Given the description of an element on the screen output the (x, y) to click on. 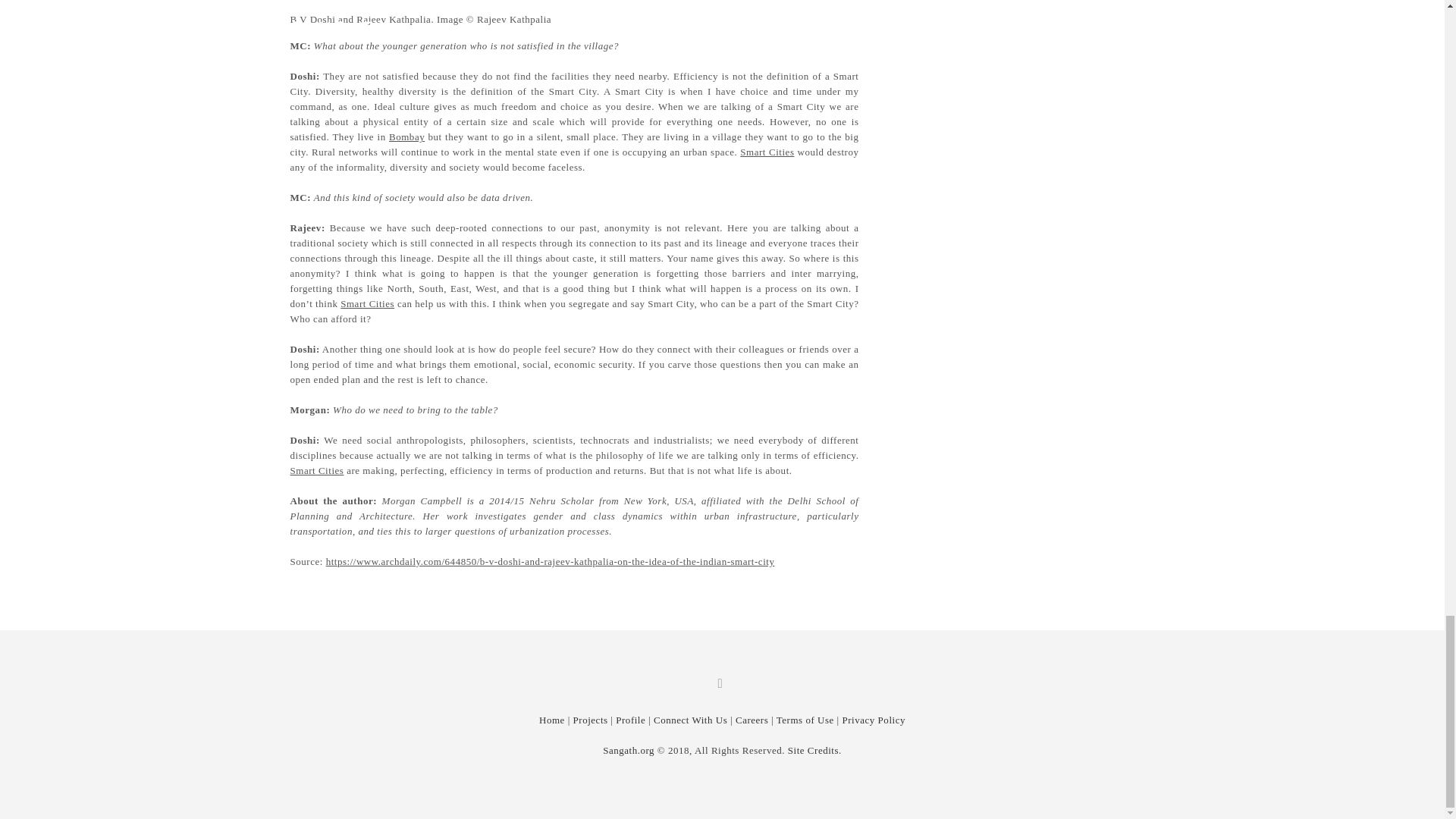
Smart Cities (367, 303)
Bombay (406, 136)
Smart Cities (316, 470)
Smart Cities (766, 152)
